Given the description of an element on the screen output the (x, y) to click on. 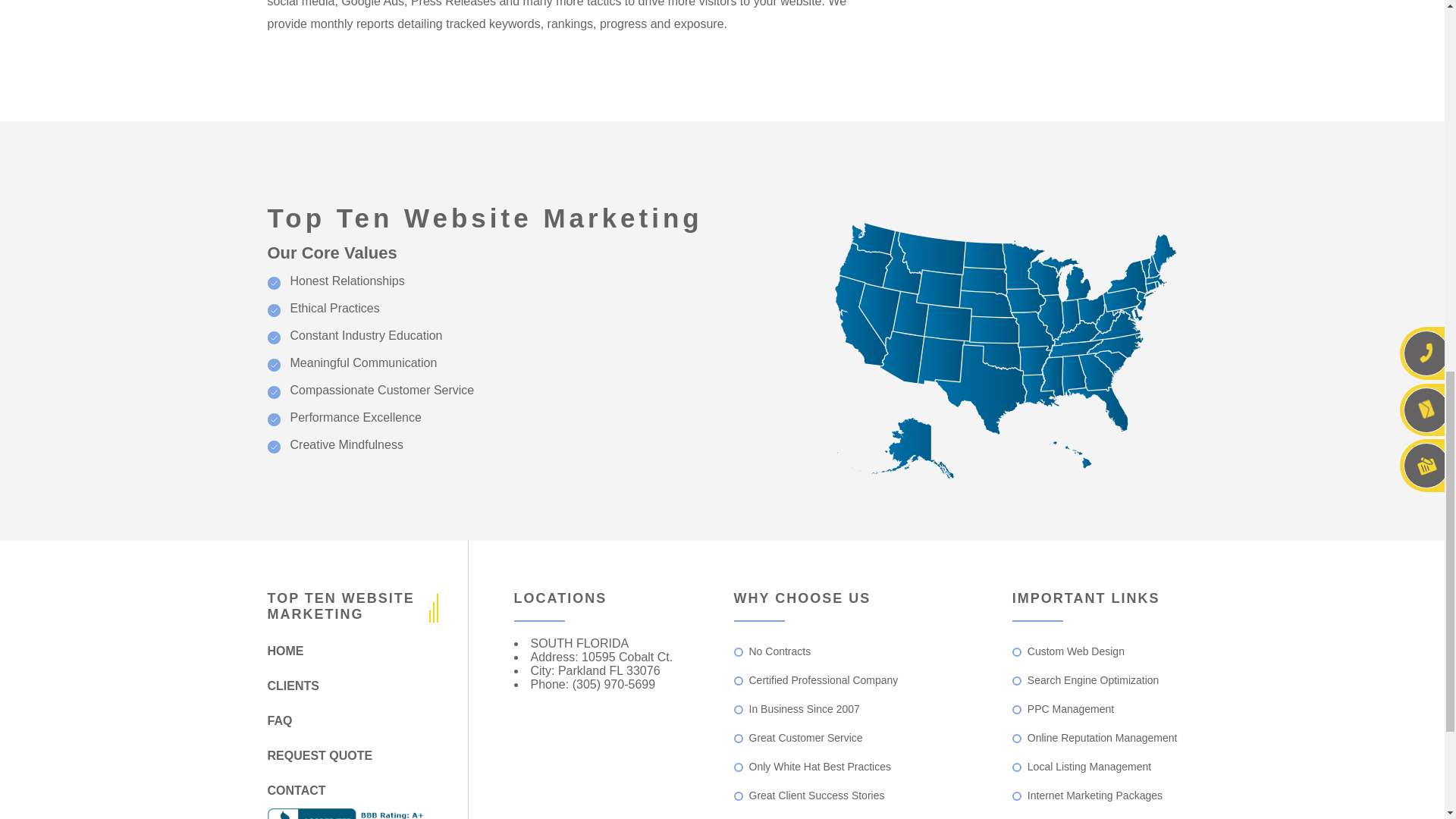
HOME (347, 651)
